Given the description of an element on the screen output the (x, y) to click on. 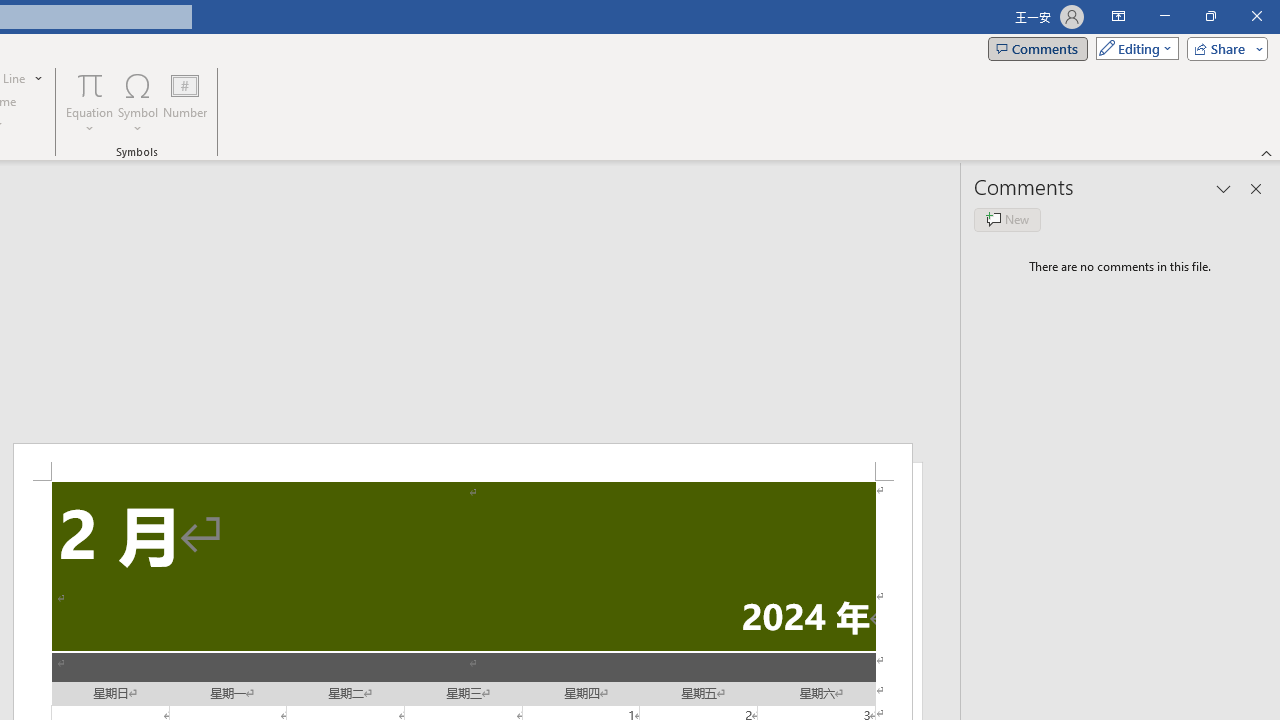
Symbol (138, 102)
